Given the description of an element on the screen output the (x, y) to click on. 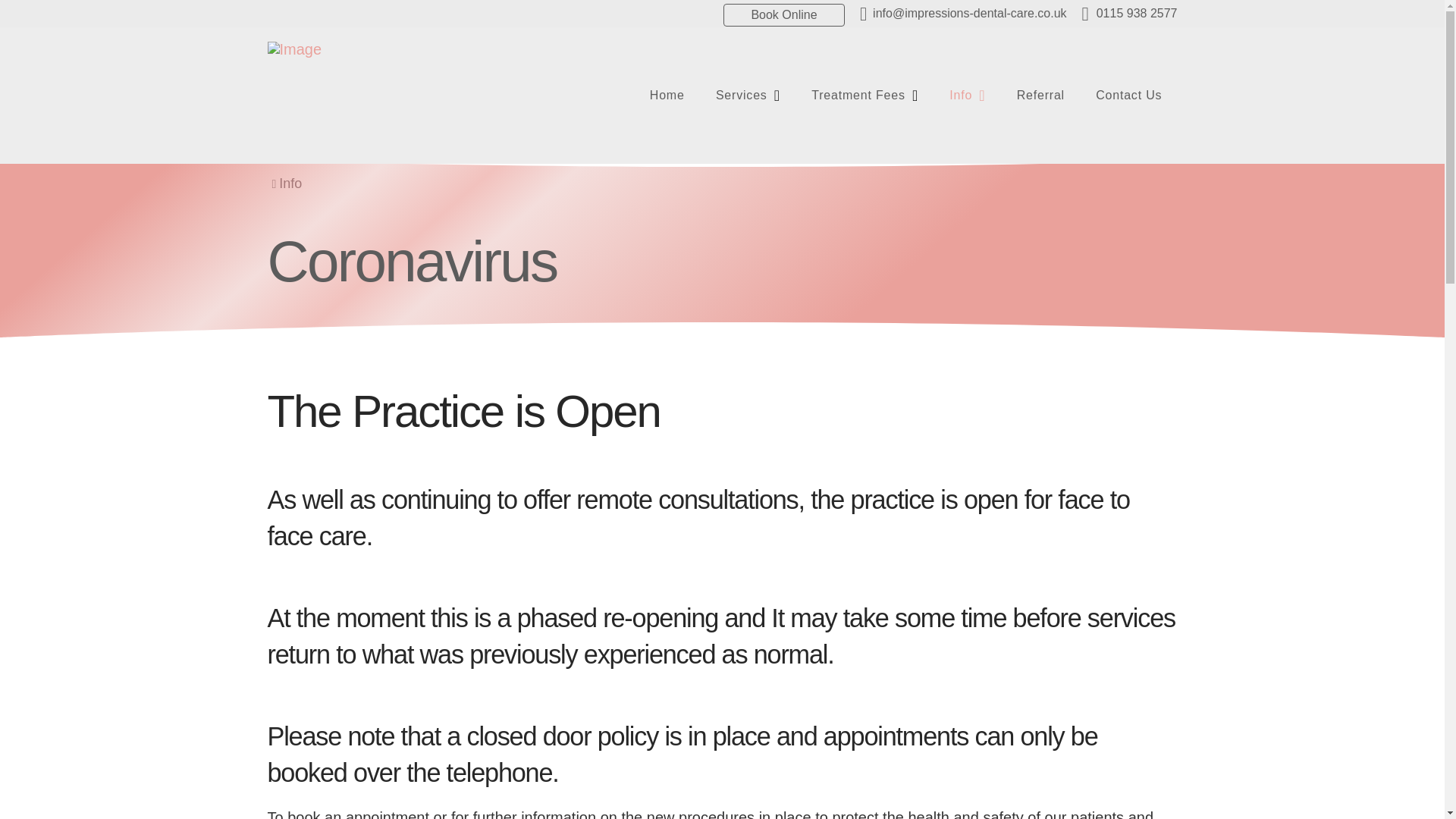
Book Online (783, 15)
Treatment Fees (863, 95)
Services (747, 95)
Referral (1040, 95)
Contact Us (1128, 95)
0115 938 2577 (1129, 13)
Home (666, 95)
Info (290, 183)
Info (966, 95)
